Given the description of an element on the screen output the (x, y) to click on. 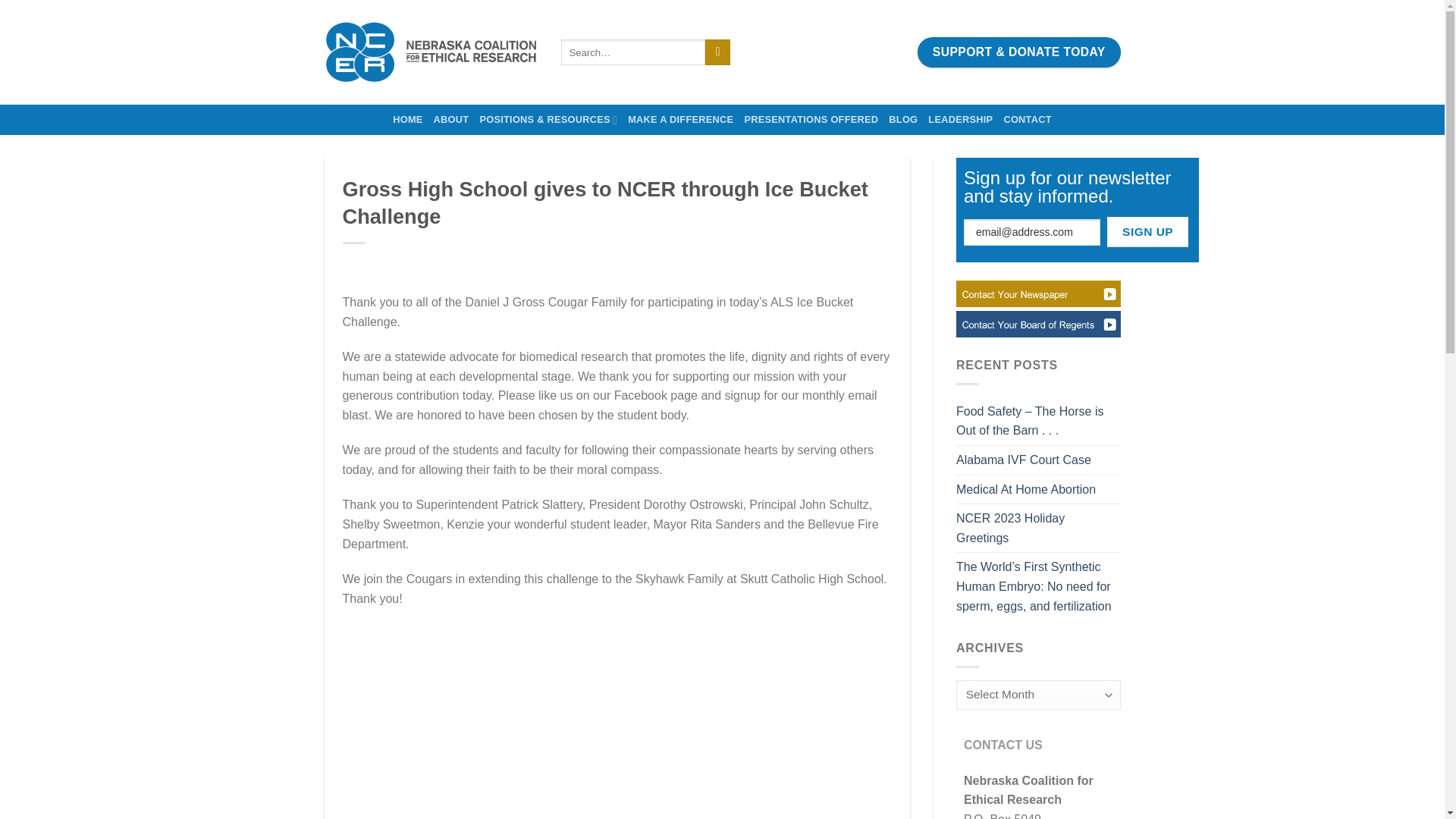
HOME (407, 119)
CONTACT (1027, 119)
Alabama IVF Court Case (1023, 460)
PRESENTATIONS OFFERED (810, 119)
MAKE A DIFFERENCE (680, 119)
NCER 2023 Holiday Greetings (1038, 528)
BLOG (902, 119)
Medical At Home Abortion (1026, 489)
ABOUT (450, 119)
LEADERSHIP (960, 119)
